Given the description of an element on the screen output the (x, y) to click on. 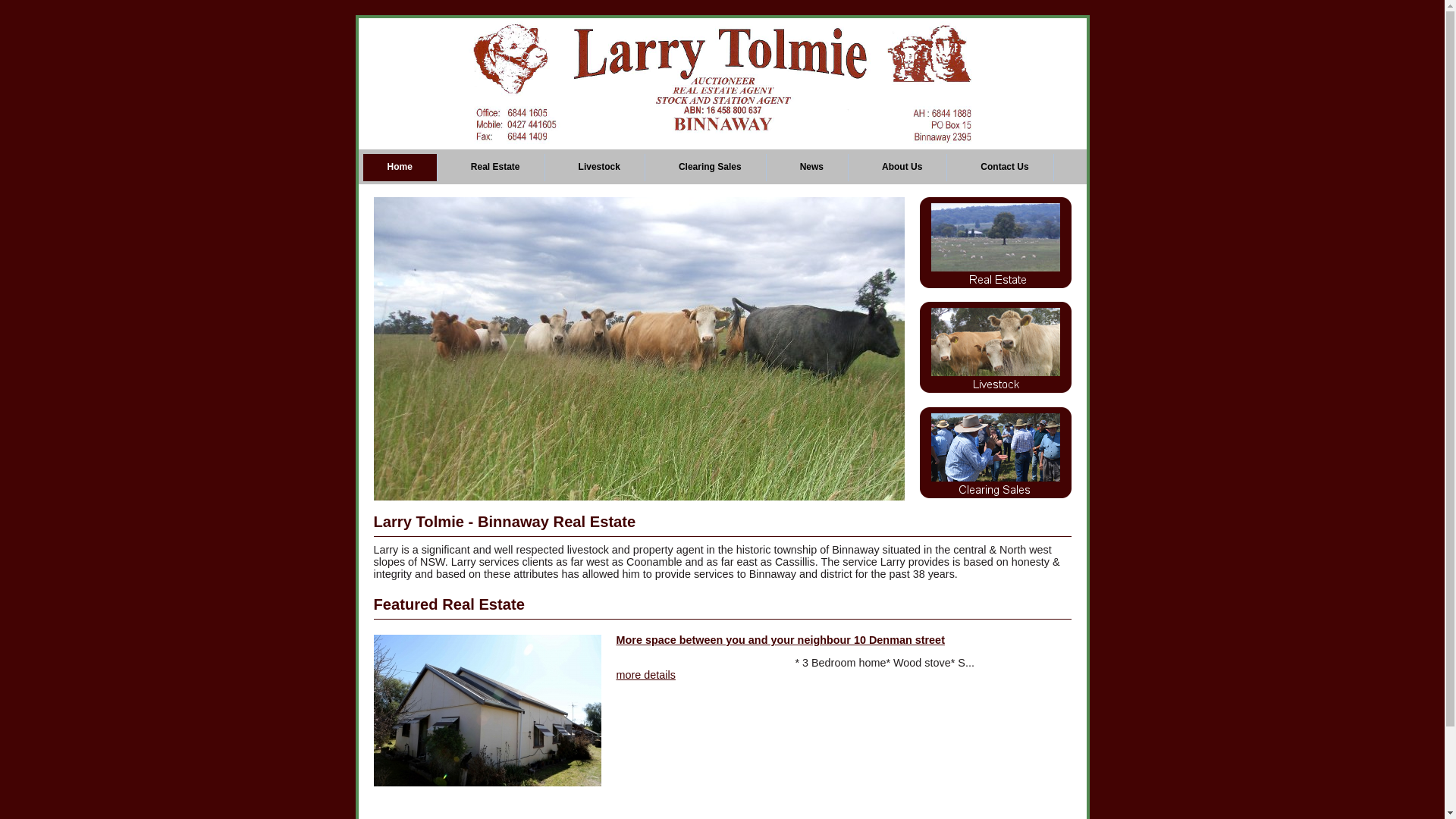
News Element type: text (811, 167)
More space between you and your neighbour 10 Denman street Element type: text (804, 645)
Contact Us Element type: text (1004, 167)
Clearing Sales Element type: text (710, 167)
Home Element type: text (399, 167)
more details Element type: text (644, 674)
Real Estate Element type: text (495, 167)
About Us Element type: text (902, 167)
Livestock Element type: text (599, 167)
